Given the description of an element on the screen output the (x, y) to click on. 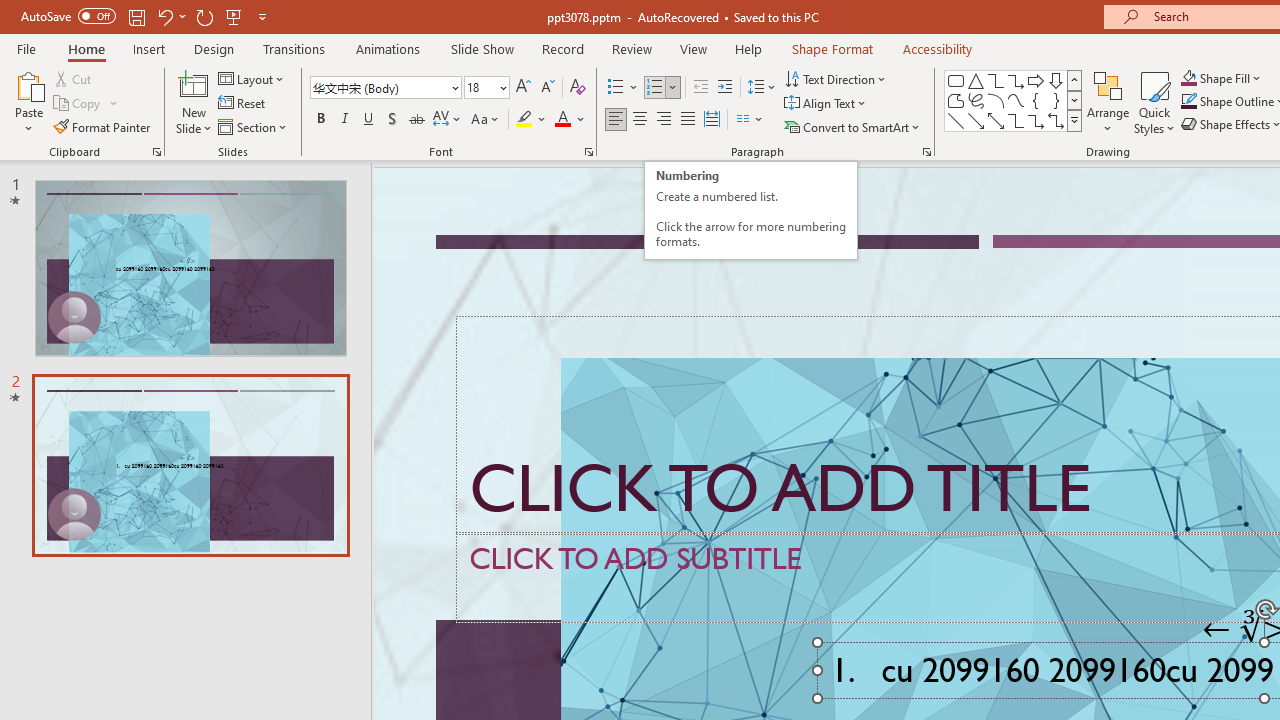
Font Color Red (562, 119)
Underline (369, 119)
Center (639, 119)
Arrow: Down (1055, 80)
Connector: Elbow (1016, 120)
Reset (243, 103)
Align Left (616, 119)
Isosceles Triangle (975, 80)
Arrange (1108, 102)
Shape Outline Green, Accent 1 (1188, 101)
